Given the description of an element on the screen output the (x, y) to click on. 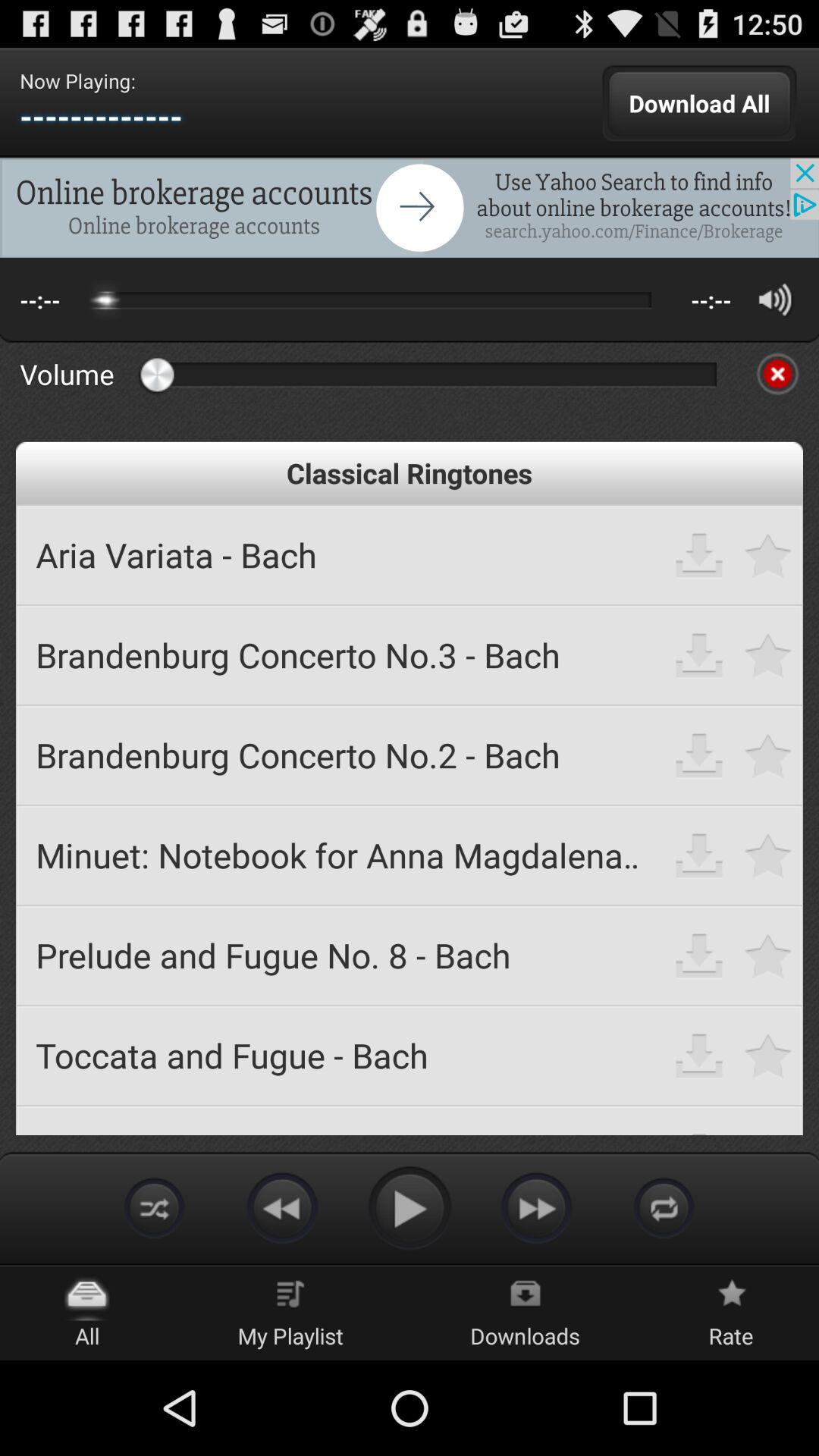
select the first star icon on the web page (768, 554)
click the my playlist icon on the web page (290, 1296)
click on the download icon right to toccata and fugue  bach (699, 1054)
click the third star icon on the right side of the web page (768, 754)
click on the icon at the bottom of the page right to forward icon (664, 1207)
